Given the description of an element on the screen output the (x, y) to click on. 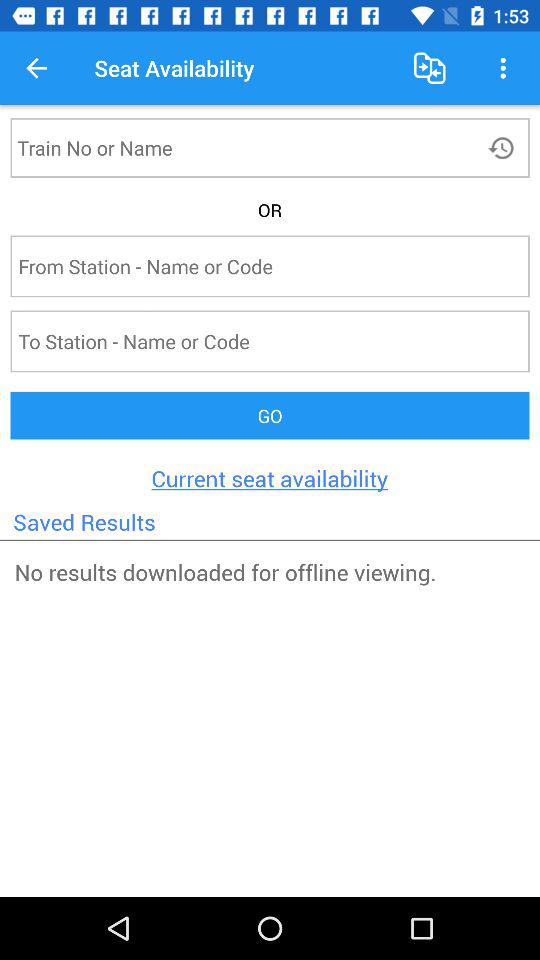
turn off the icon above current seat availability (269, 415)
